Given the description of an element on the screen output the (x, y) to click on. 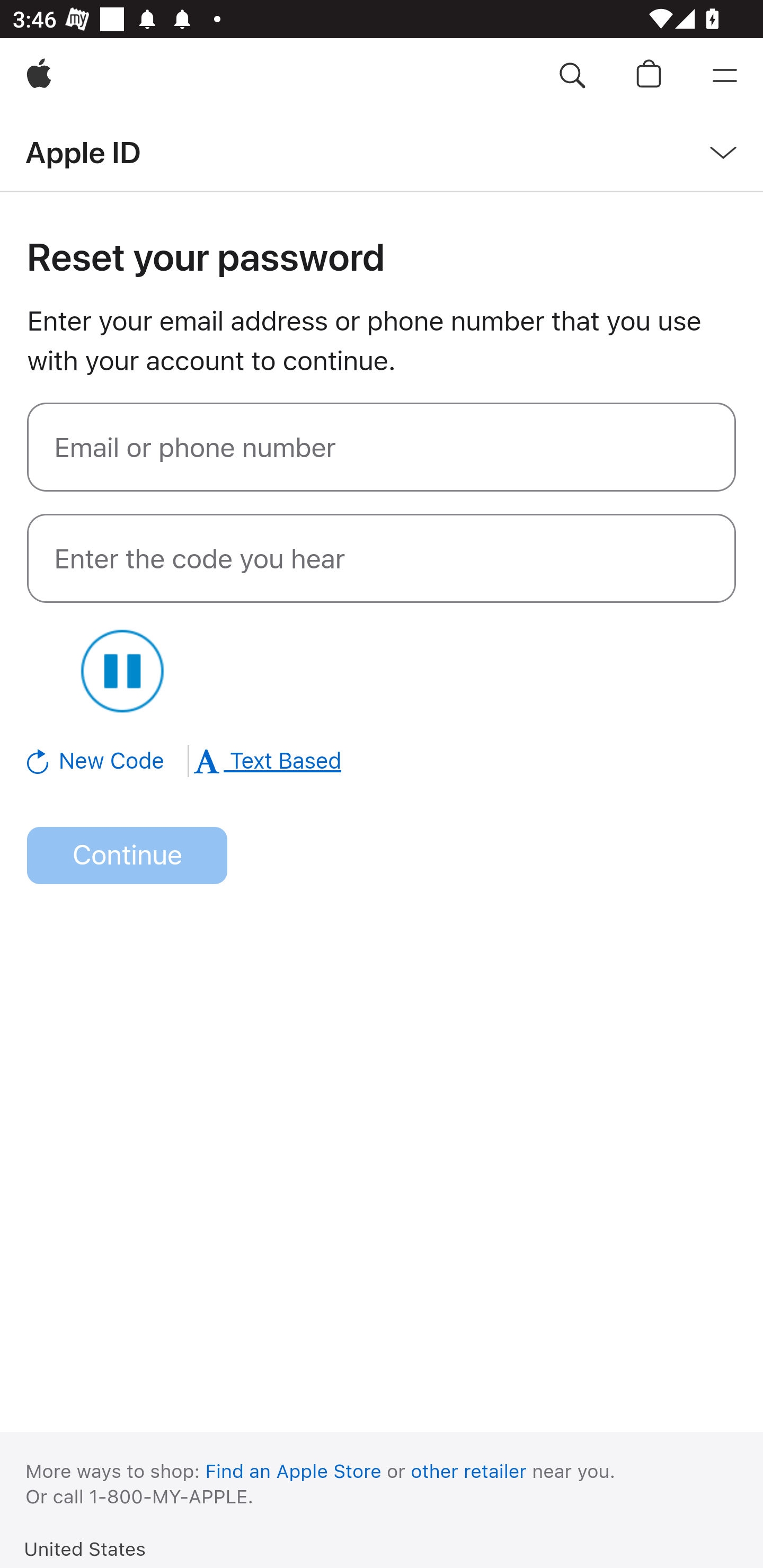
Apple (38, 75)
Search apple.com (572, 75)
Shopping Bag (648, 75)
Menu (724, 75)
Apple ID (83, 151)
Pause audio challenge (121, 671)
 New Code (108, 760)
 Text Based (266, 760)
Continue (126, 855)
Find an Apple Store (293, 1470)
other retailer (468, 1470)
United States (84, 1548)
